Given the description of an element on the screen output the (x, y) to click on. 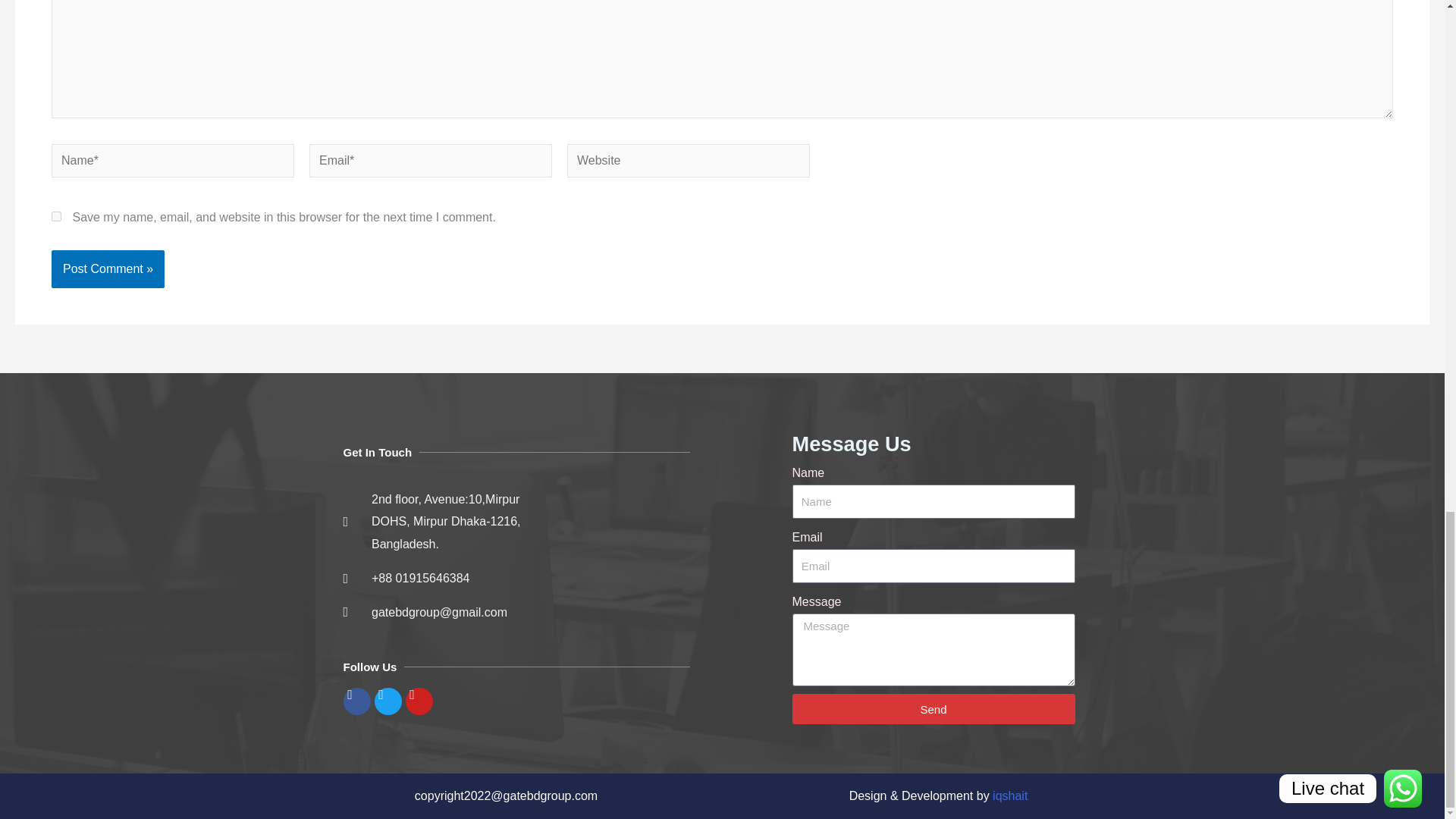
iqshait (1009, 795)
yes (55, 216)
Send (933, 708)
